Given the description of an element on the screen output the (x, y) to click on. 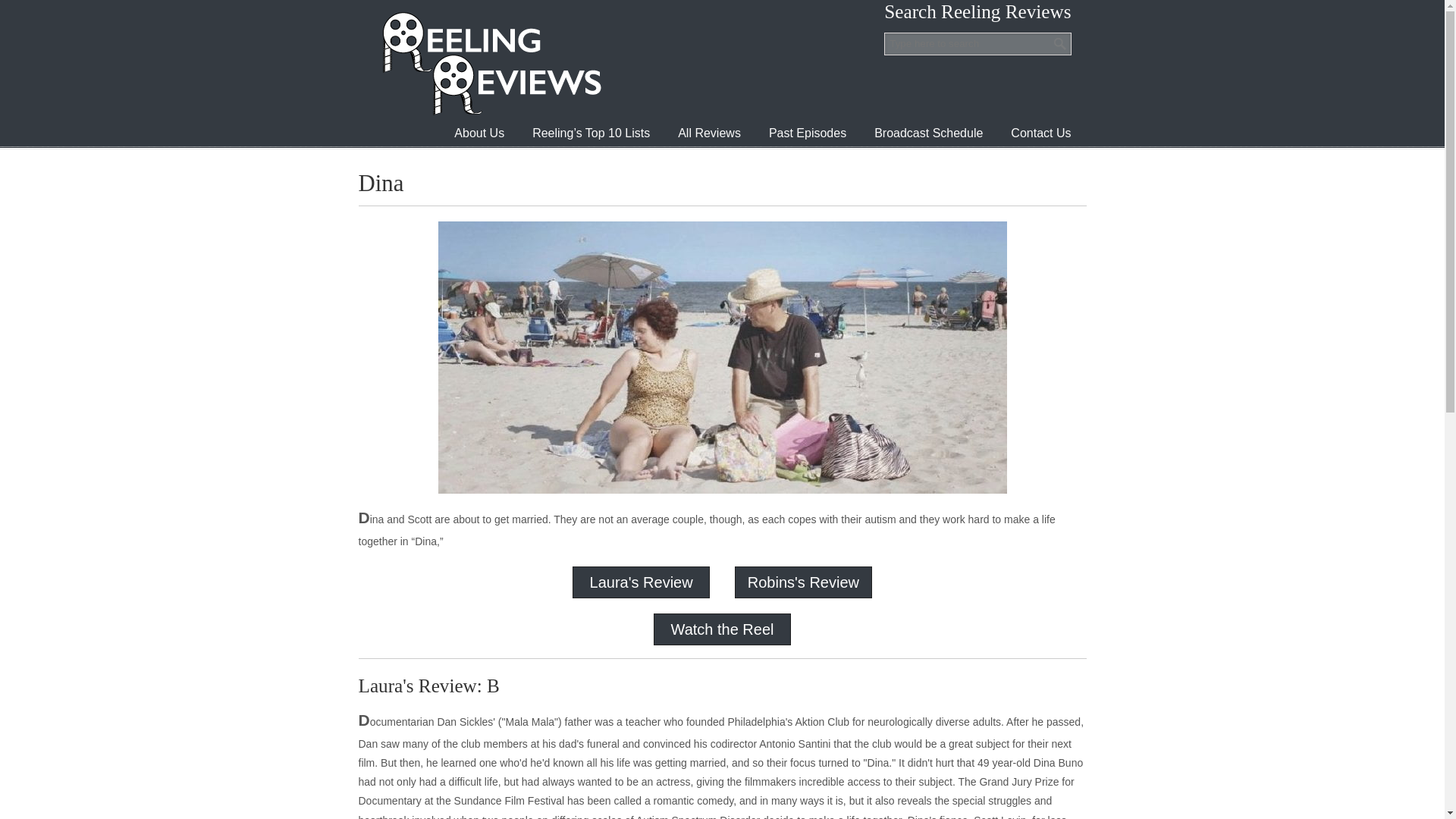
Laura's Review (641, 582)
Broadcast Schedule (928, 133)
All Reviews (708, 133)
Reeling Reviews (489, 63)
Robins's Review (803, 582)
Contact Us (1040, 133)
Past Episodes (807, 133)
Watch the Reel (721, 629)
Reeling Reviews (489, 63)
About Us (479, 133)
